Given the description of an element on the screen output the (x, y) to click on. 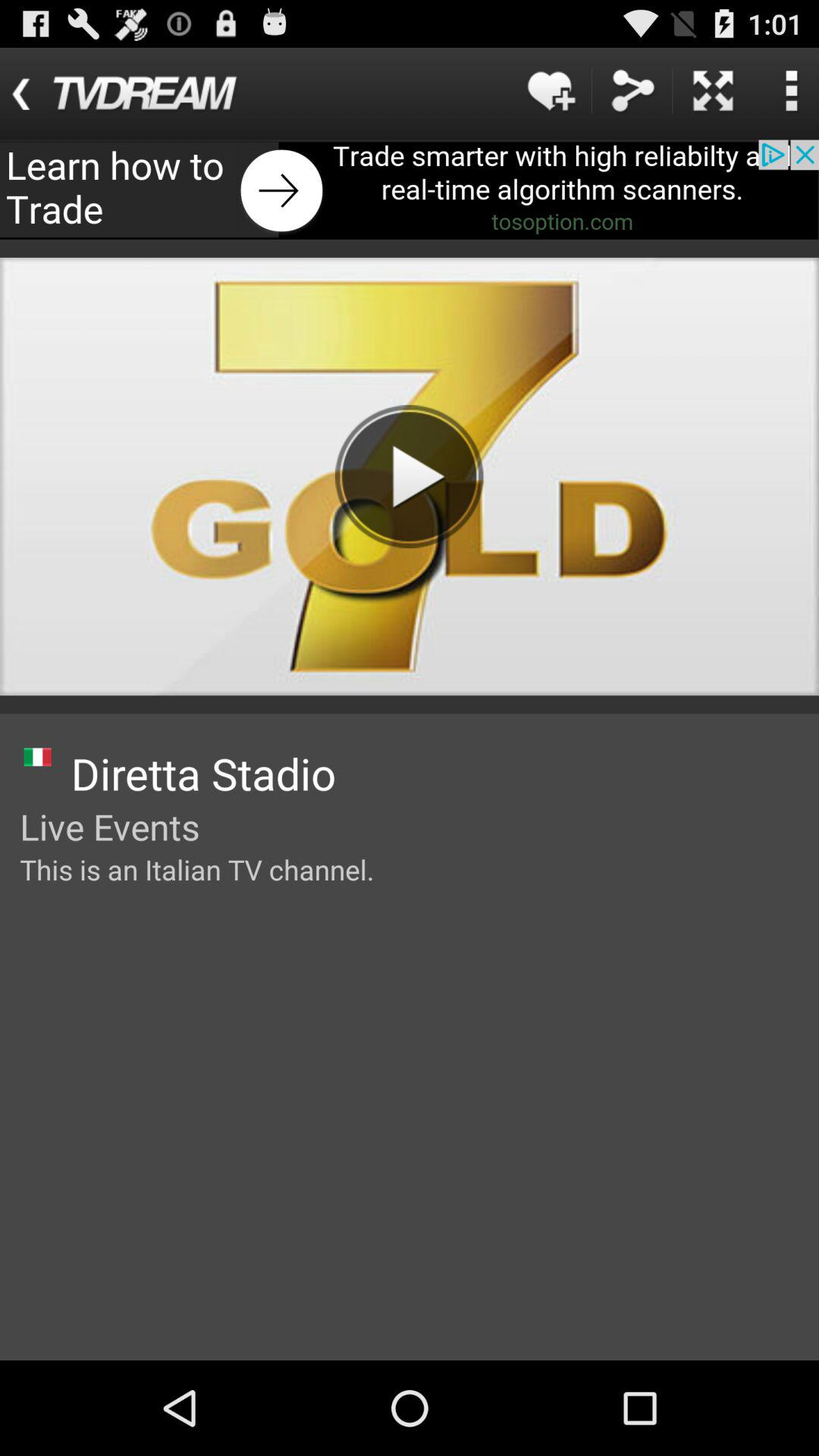
play button (408, 476)
